Given the description of an element on the screen output the (x, y) to click on. 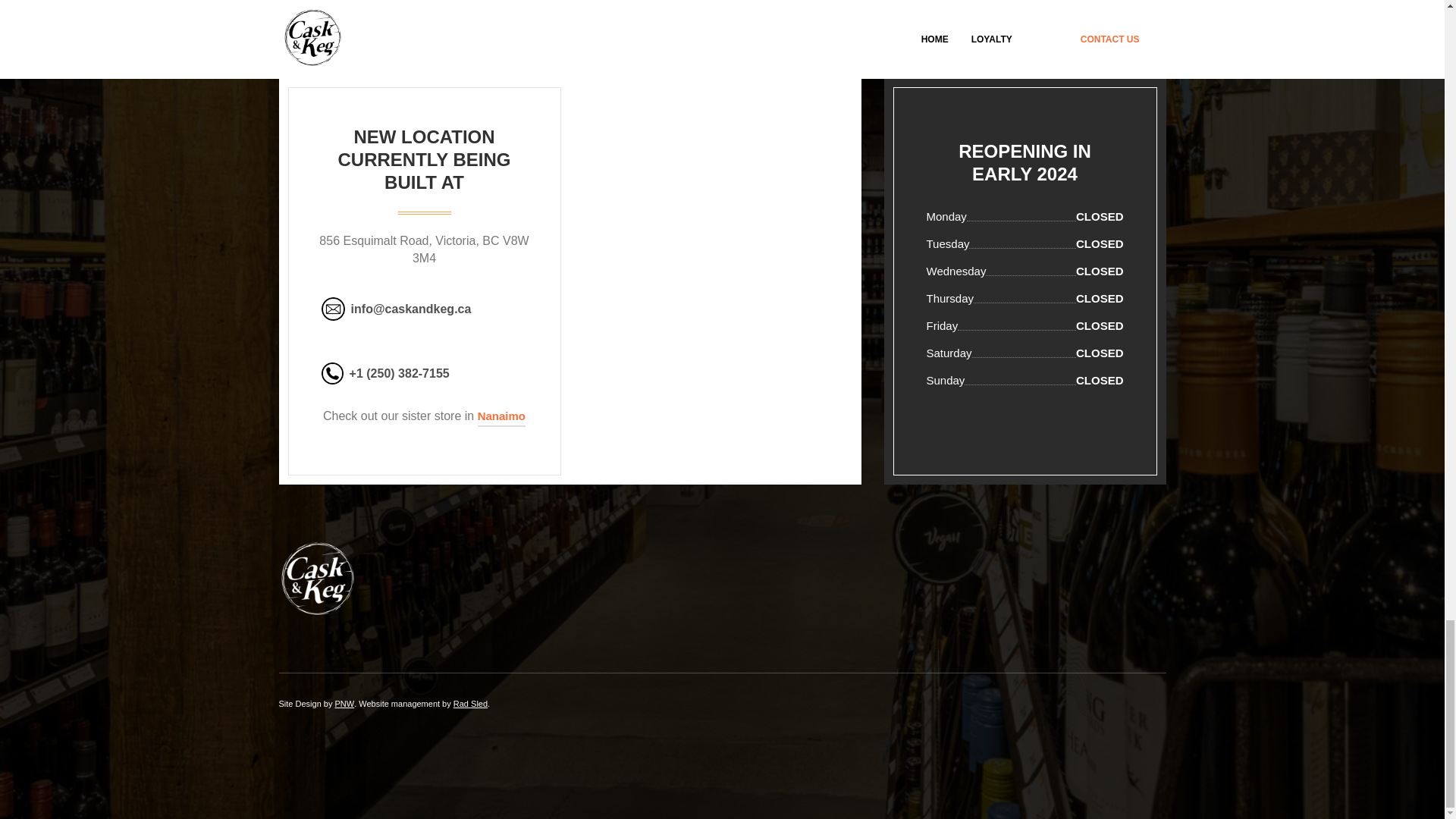
PNW (343, 703)
Rad Sled (469, 703)
Nanaimo (501, 416)
